Given the description of an element on the screen output the (x, y) to click on. 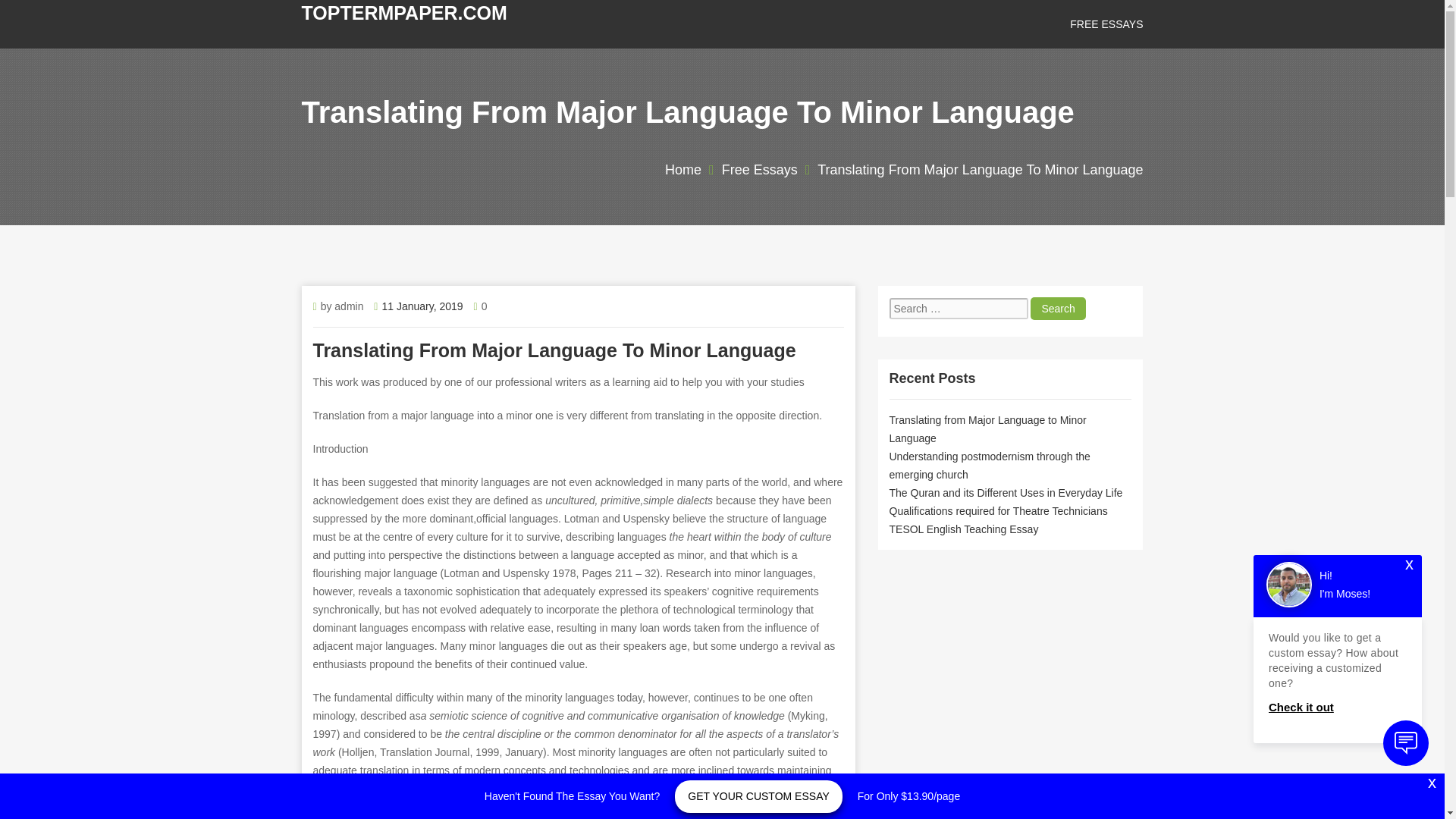
The Quran and its Different Uses in Everyday Life (1005, 492)
Free Essays (759, 169)
by (327, 306)
Free Essays (1106, 24)
TOPTERMPAPER.COM (403, 12)
0 (484, 306)
Search (1057, 308)
Translating from Major Language to Minor Language (987, 429)
Search (1057, 308)
TESOL English Teaching Essay (963, 529)
Translating From Major Language To Minor Language (979, 169)
Home (683, 169)
Check it out (1337, 707)
GET YOUR CUSTOM ESSAY (758, 795)
Understanding postmodernism through the emerging church (988, 465)
